Given the description of an element on the screen output the (x, y) to click on. 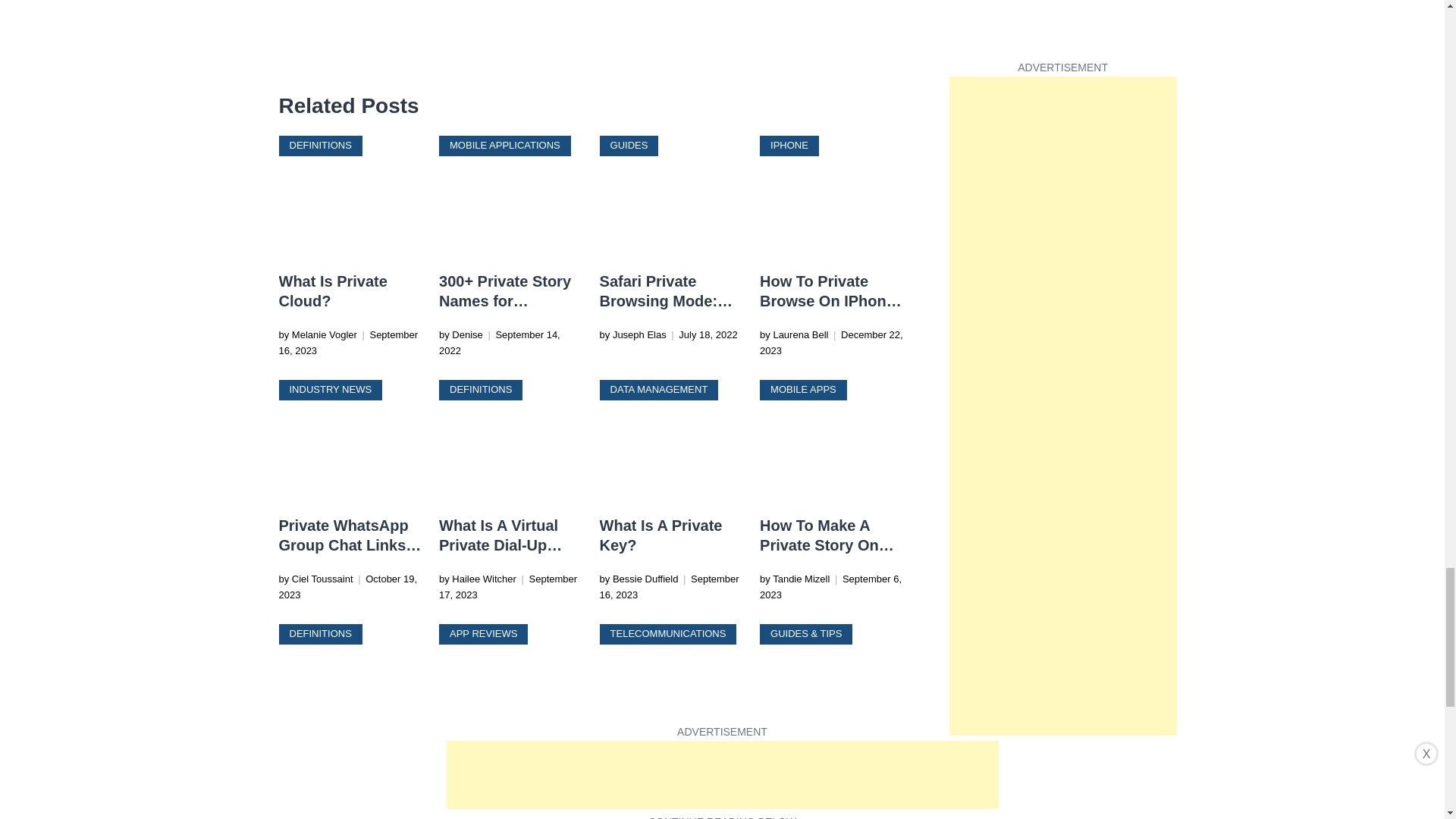
Share on facebook (291, 62)
Share on Instagram (351, 62)
Share on twitter (321, 62)
Share on Pinterest (381, 62)
